Given the description of an element on the screen output the (x, y) to click on. 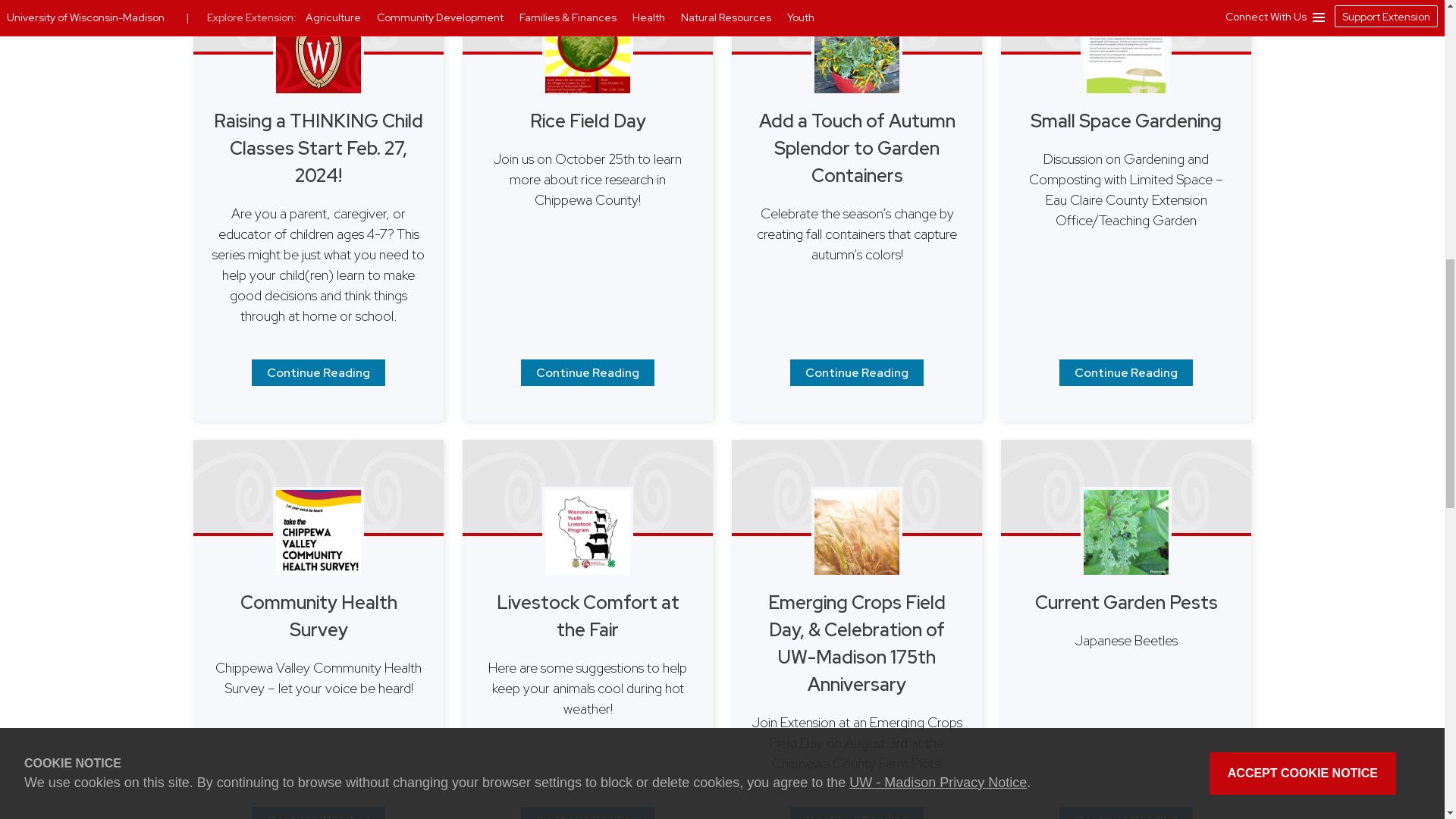
Raising a THINKING Child Classes Start Feb. 27, 2024! (318, 372)
Rice Field Day (587, 372)
